Given the description of an element on the screen output the (x, y) to click on. 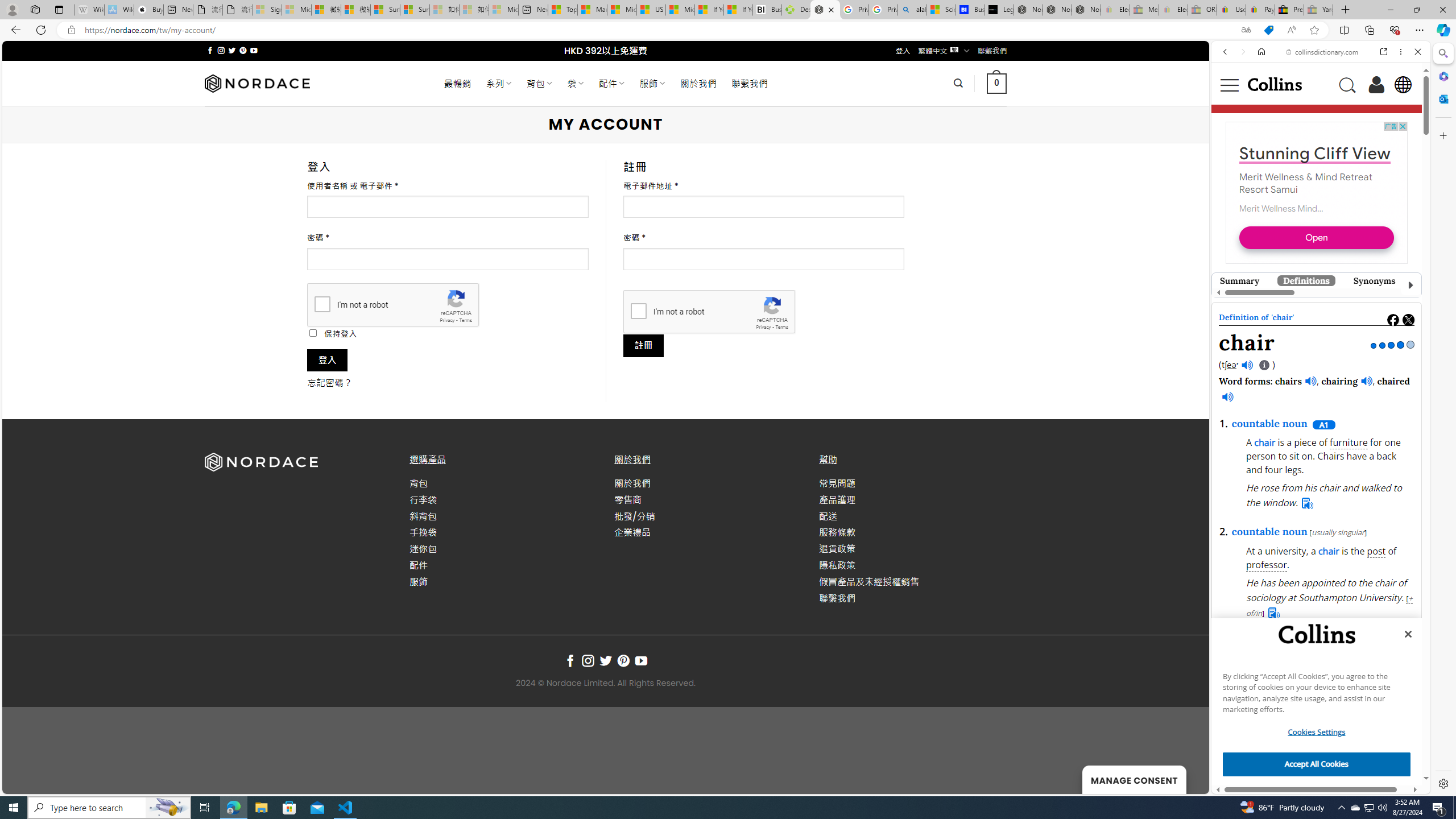
committee (1269, 704)
professor (1266, 565)
lead (1324, 481)
Follow on YouTube (640, 660)
Accept All Cookies (1316, 764)
collinsdictionary.com (1323, 51)
Follow on Facebook (570, 660)
Show more (1381, 480)
